Given the description of an element on the screen output the (x, y) to click on. 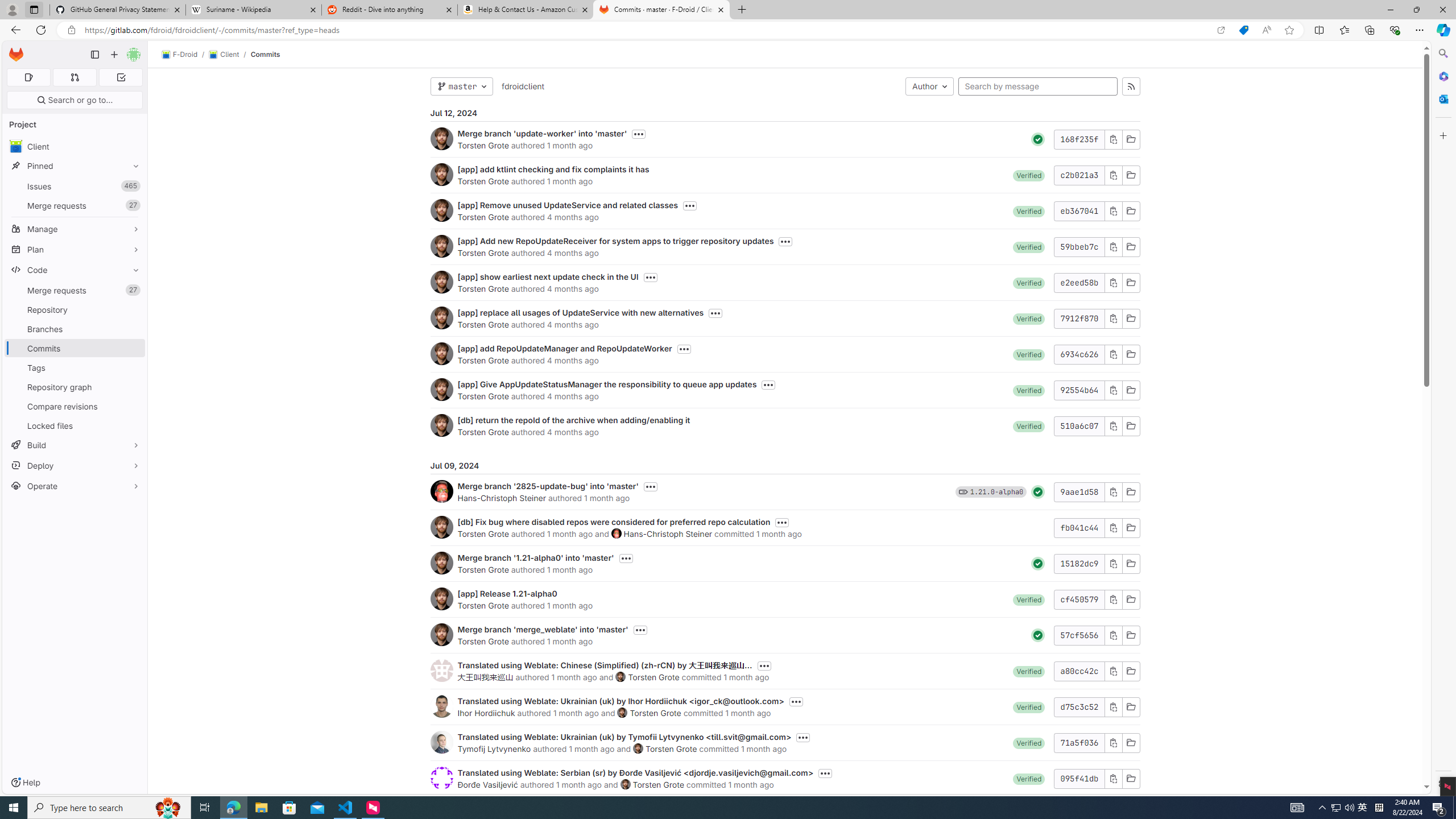
Merge branch '1.21-alpha0' into 'master' (535, 557)
Pipeline: passed (1037, 635)
Suriname - Wikipedia (253, 9)
Build (74, 444)
Repository (74, 309)
Skip to main content (13, 49)
Hans-Christoph Steiner's avatar (616, 533)
Pin Repository (132, 309)
Browse Files (1130, 778)
Hans-Christoph Steiner (667, 533)
avatar Client (74, 145)
